Given the description of an element on the screen output the (x, y) to click on. 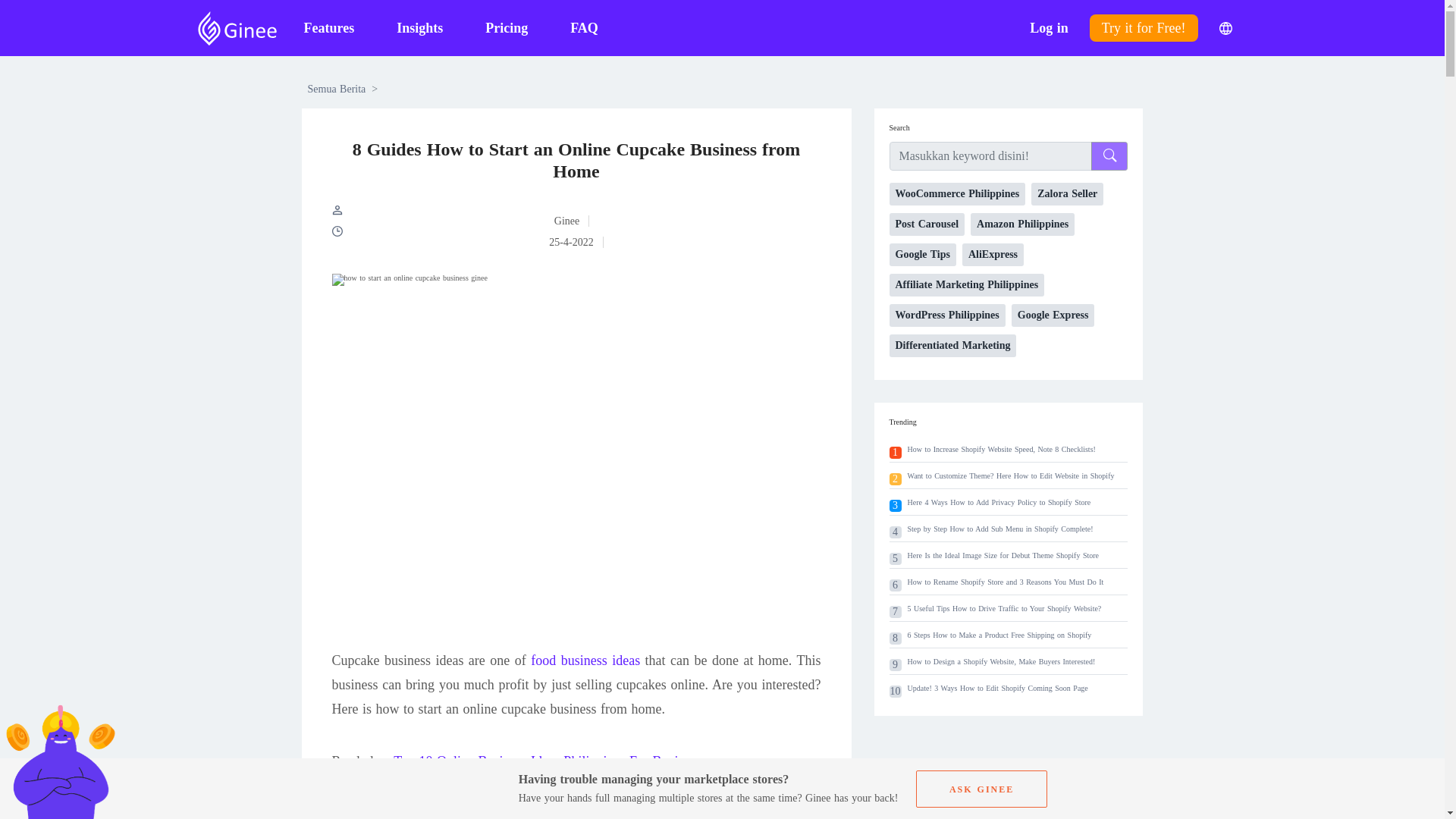
How to Rename Shopify Store and 3 Reasons You Must Do It (1005, 582)
WordPress Philippines (946, 314)
How to Increase Shopify Website Speed, Note 8 Checklists! (1000, 449)
Semua Berita (336, 89)
Here Is the Ideal Image Size for Debut Theme Shopify Store (1003, 555)
6 Steps How to Make a Product Free Shipping on Shopify (998, 634)
Google Tips (921, 254)
Top 10 Online Business Ideas Philippines For Beginner (547, 761)
AliExpress (992, 254)
